Given the description of an element on the screen output the (x, y) to click on. 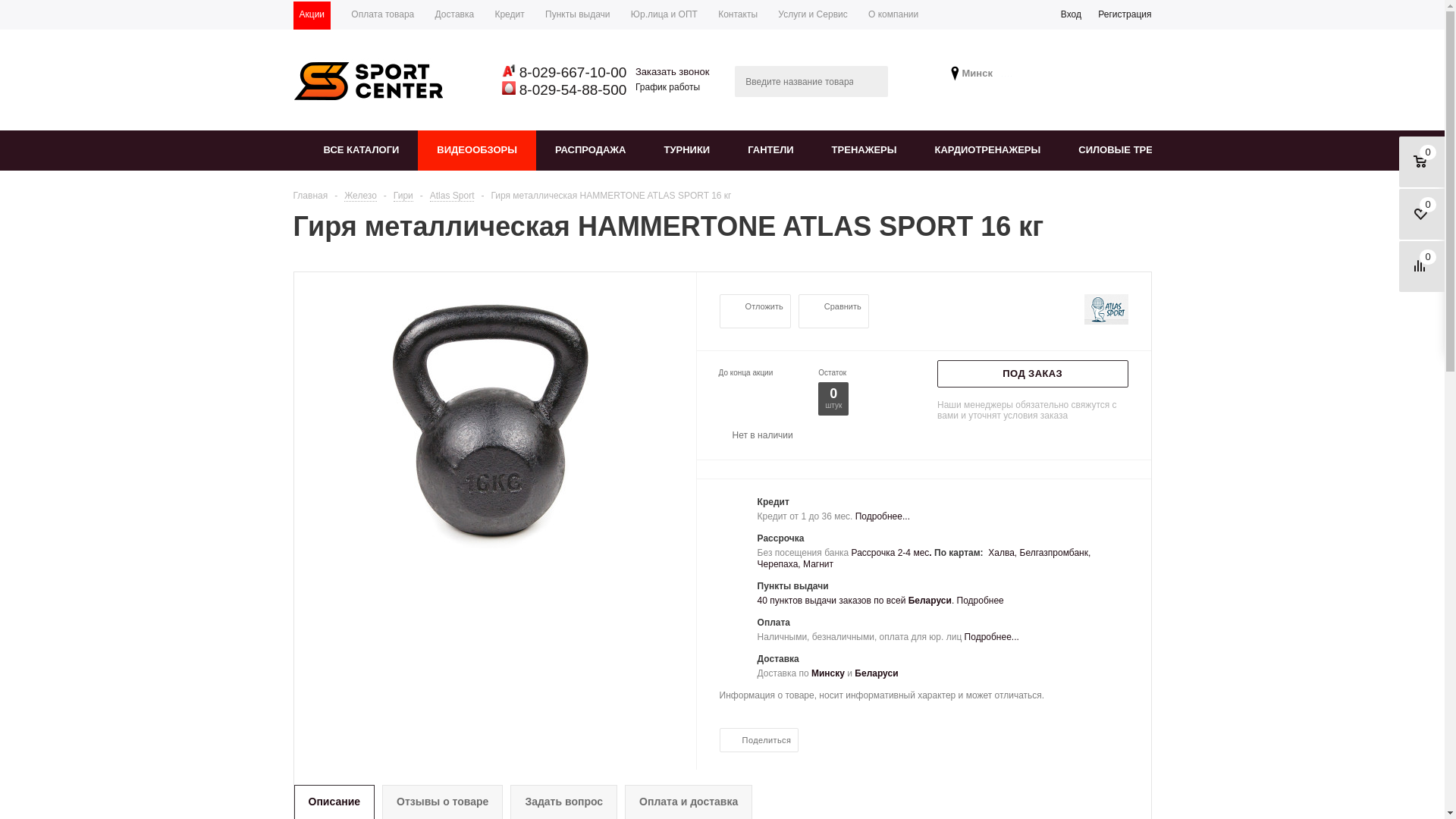
8-029-54-88-500 Element type: text (571, 89)
8-029-667-10-00 Element type: text (571, 72)
. Element type: text (954, 600)
Atlas Sport Element type: text (451, 194)
, Element type: text (798, 563)
Youtube Element type: hover (1004, 75)
Tiktok Element type: hover (1010, 75)
. Element type: text (929, 552)
Atlas Sport Element type: hover (1106, 309)
Instagram Element type: hover (1001, 75)
